Given the description of an element on the screen output the (x, y) to click on. 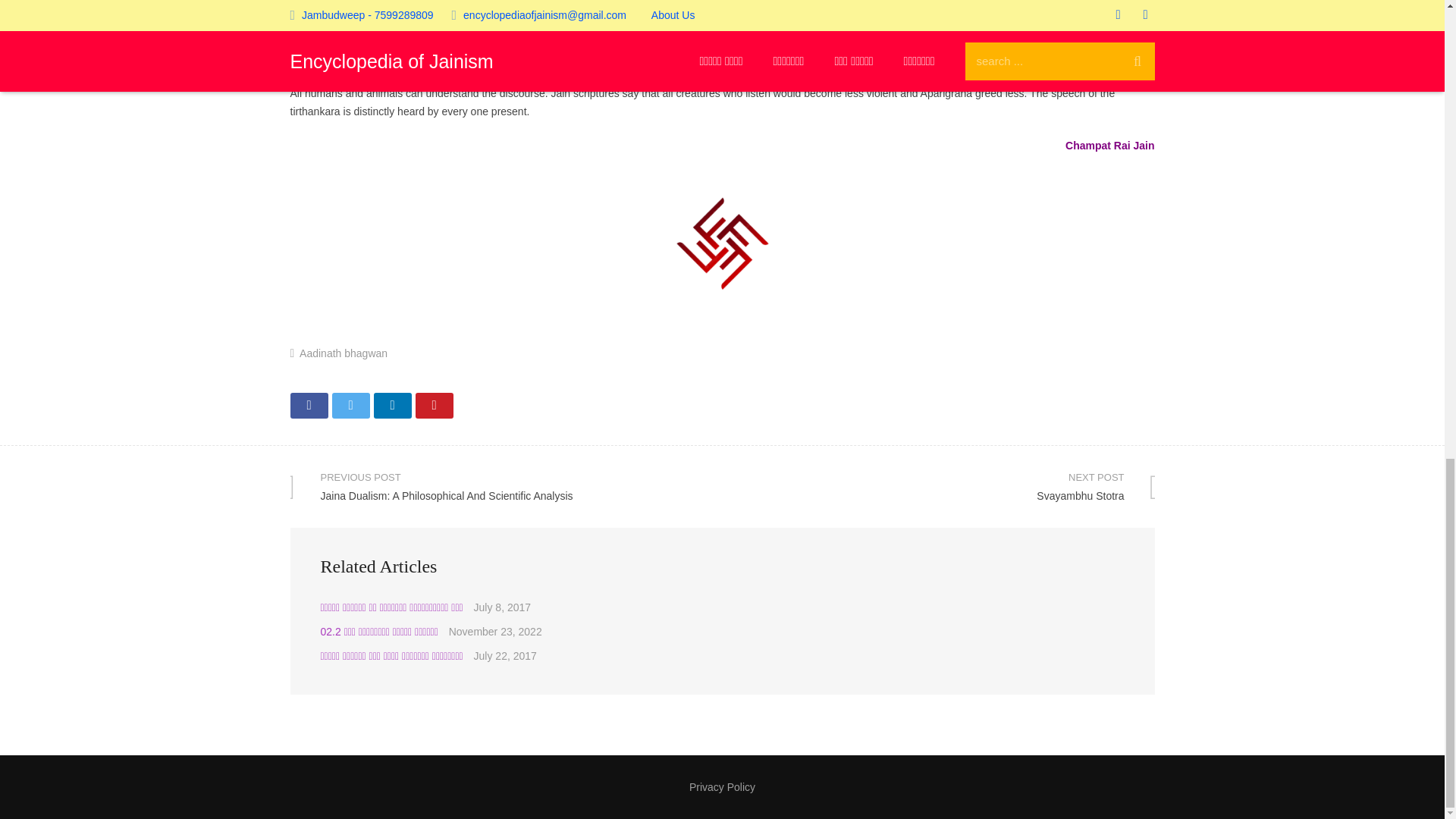
Tweet this (350, 405)
Privacy Policy (721, 787)
Share this (938, 486)
Aadinath bhagwan (391, 405)
Share this (343, 353)
Pin this (308, 405)
